Given the description of an element on the screen output the (x, y) to click on. 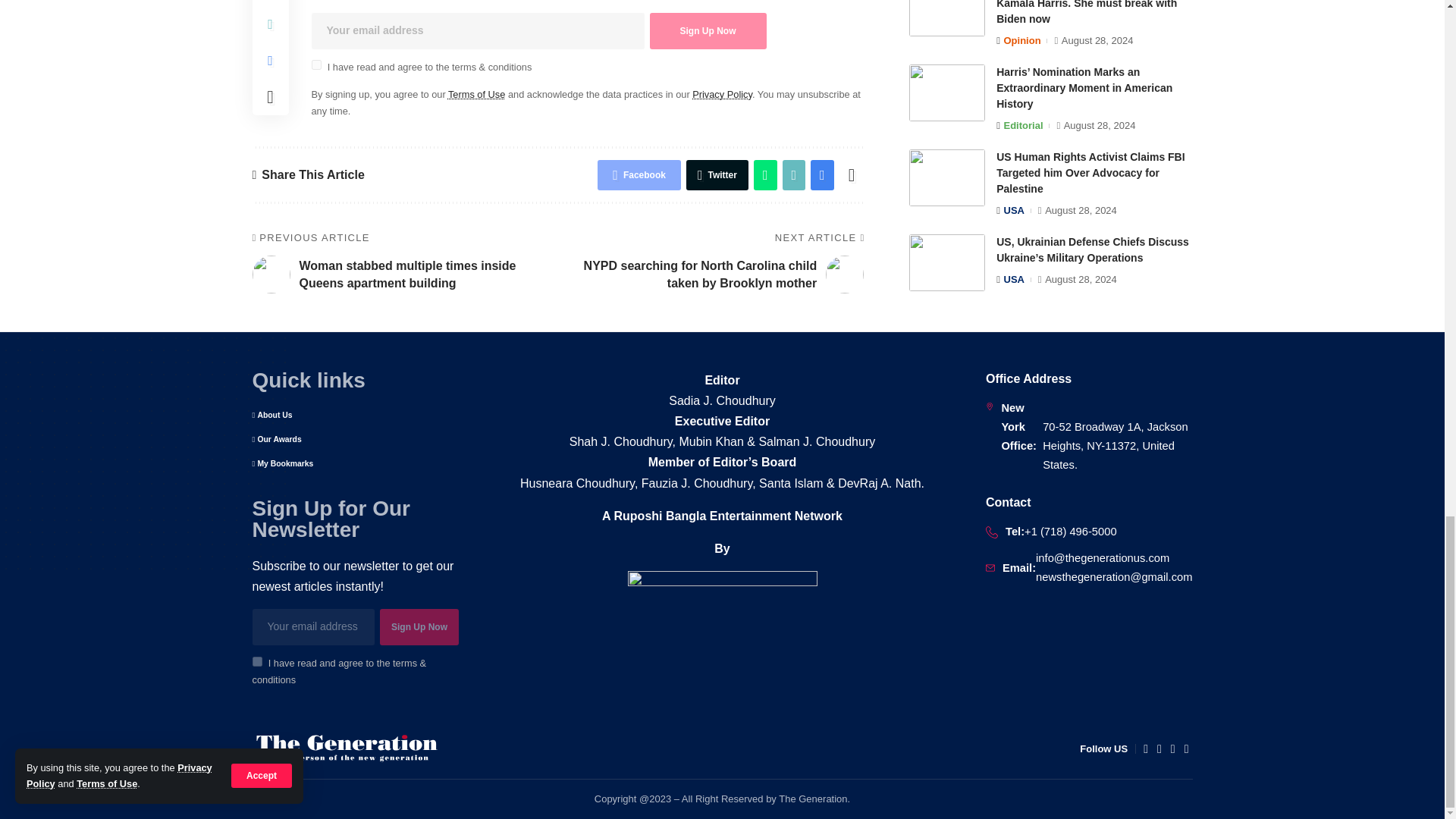
Sign Up Now (419, 627)
1 (315, 64)
1 (256, 661)
Sign Up Now (707, 31)
